Given the description of an element on the screen output the (x, y) to click on. 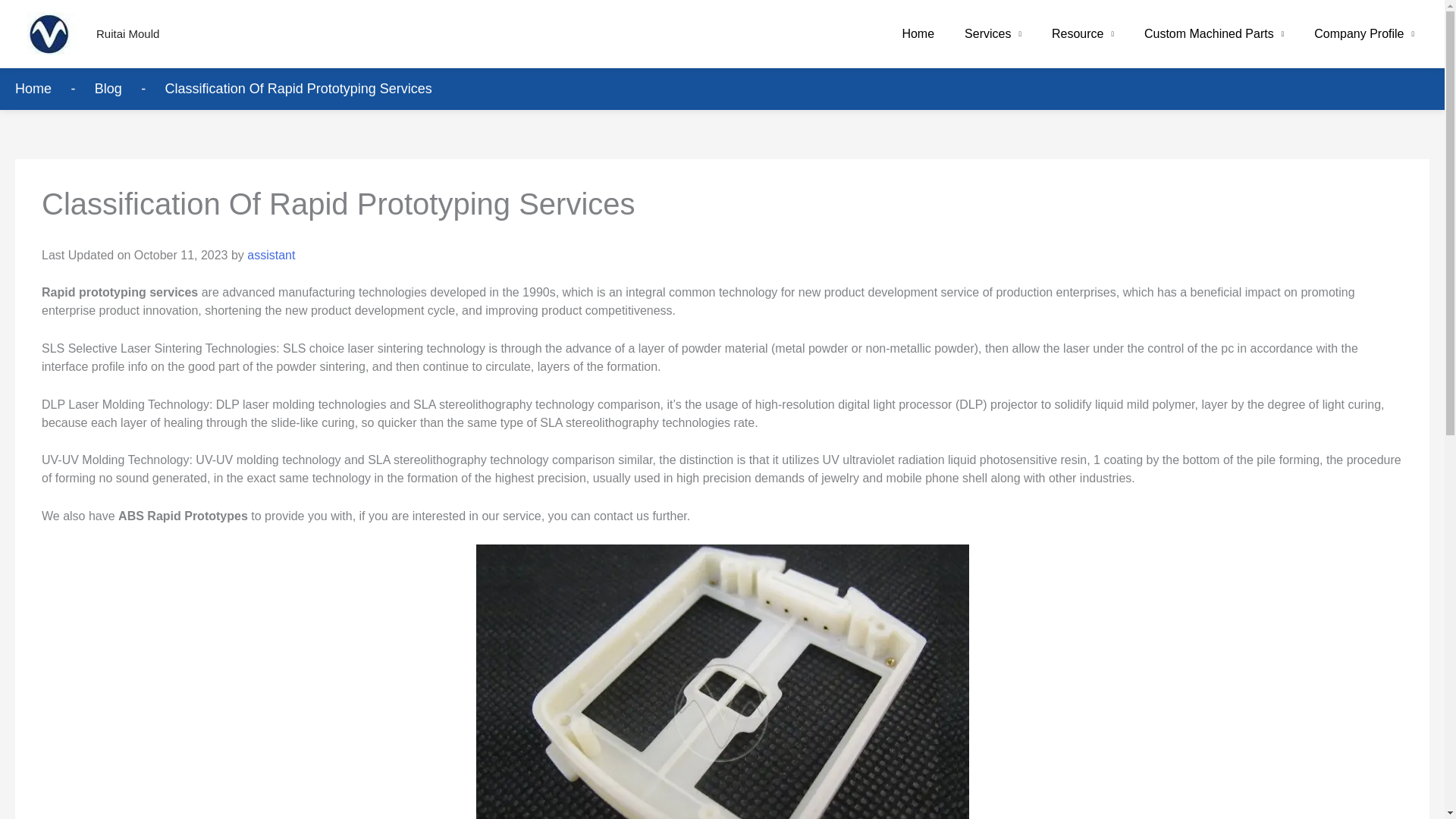
Ruitai Mould (127, 33)
Services (992, 33)
Home (917, 33)
